Given the description of an element on the screen output the (x, y) to click on. 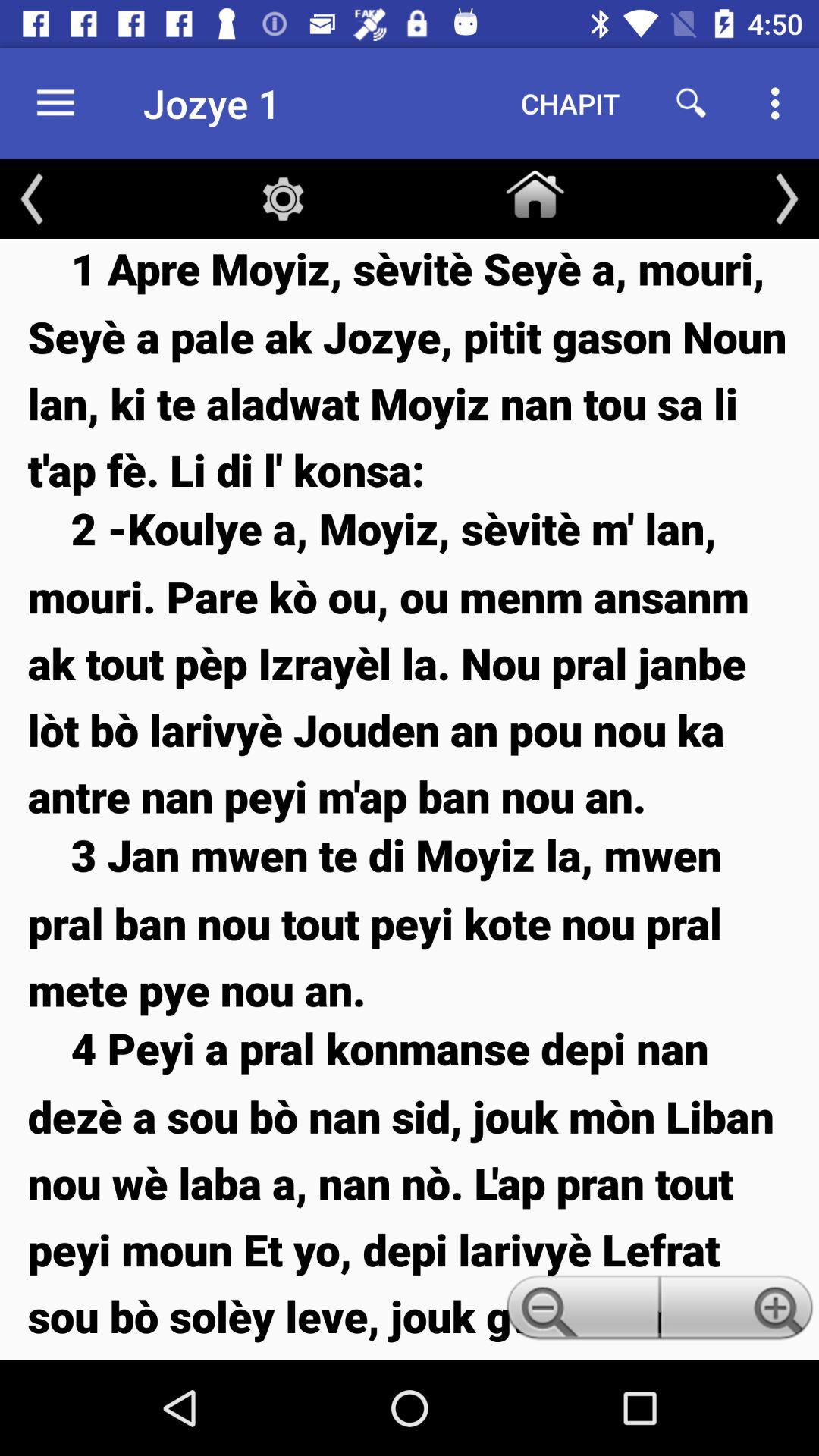
press 2 koulye a item (409, 661)
